Given the description of an element on the screen output the (x, y) to click on. 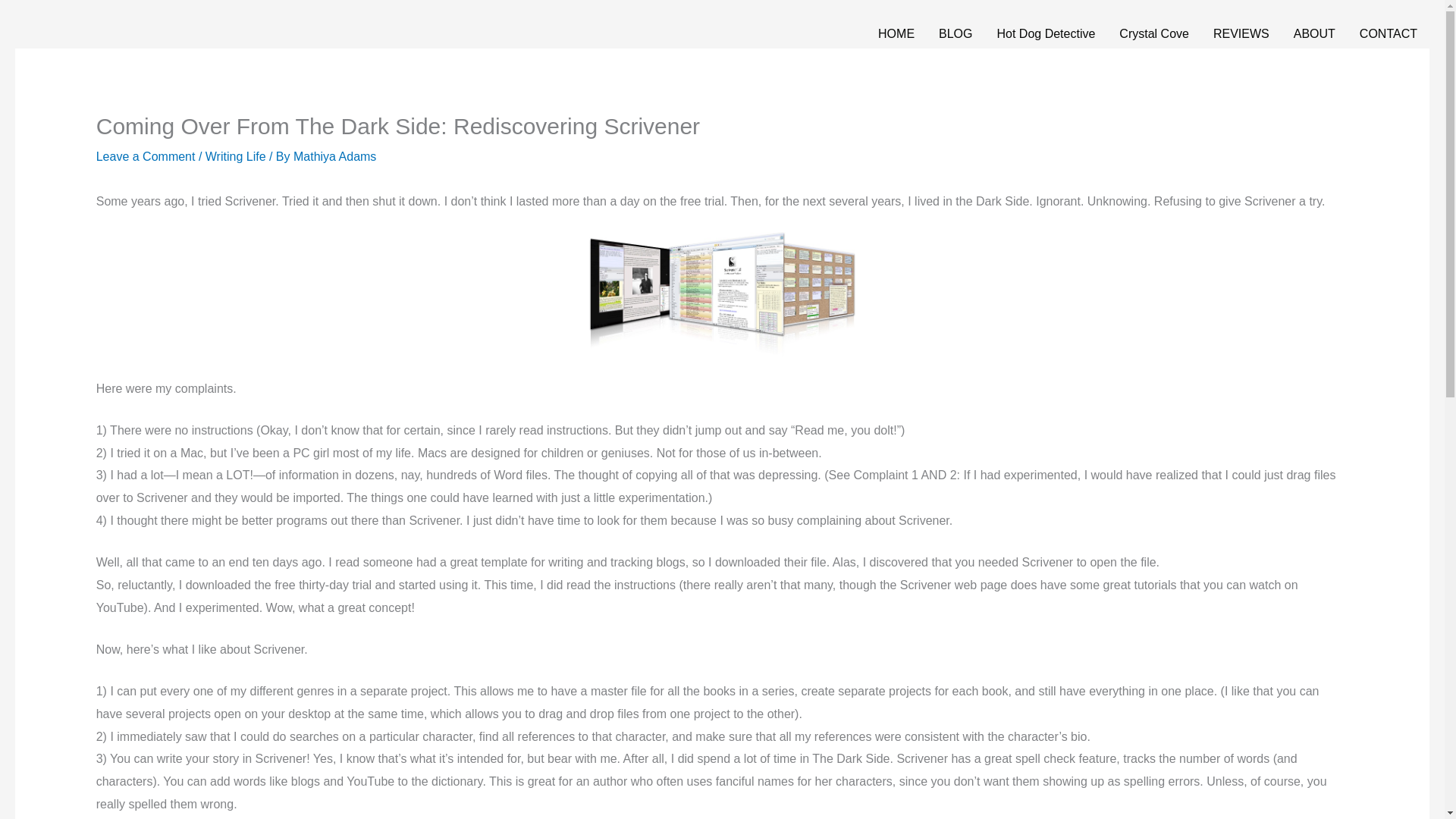
View all posts by Mathiya Adams (334, 155)
Writing Life (235, 155)
ABOUT (1314, 33)
HOME (896, 33)
REVIEWS (1241, 33)
Leave a Comment (145, 155)
Mathiya Adams (334, 155)
BLOG (955, 33)
Hot Dog Detective (1046, 33)
Crystal Cove (1153, 33)
